Given the description of an element on the screen output the (x, y) to click on. 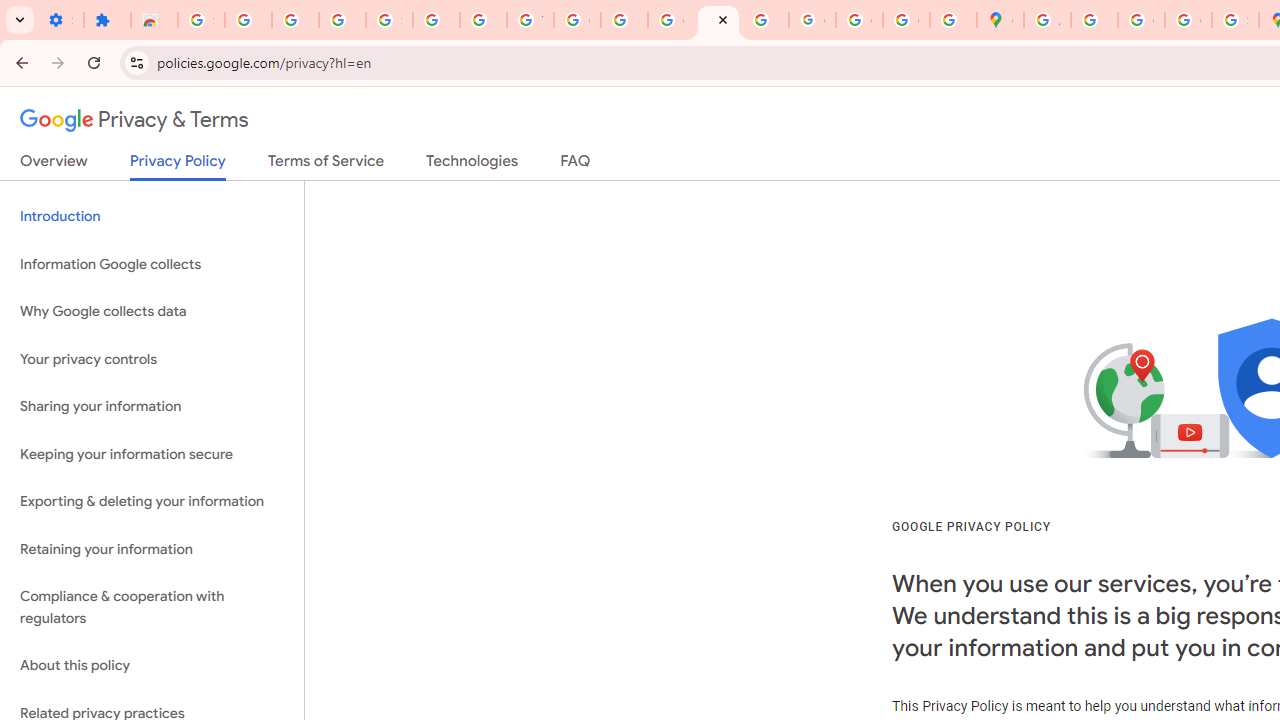
Sign in - Google Accounts (389, 20)
YouTube (530, 20)
Create your Google Account (1140, 20)
Information Google collects (152, 263)
Sign in - Google Accounts (201, 20)
Google Maps (999, 20)
Settings - On startup (60, 20)
